Given the description of an element on the screen output the (x, y) to click on. 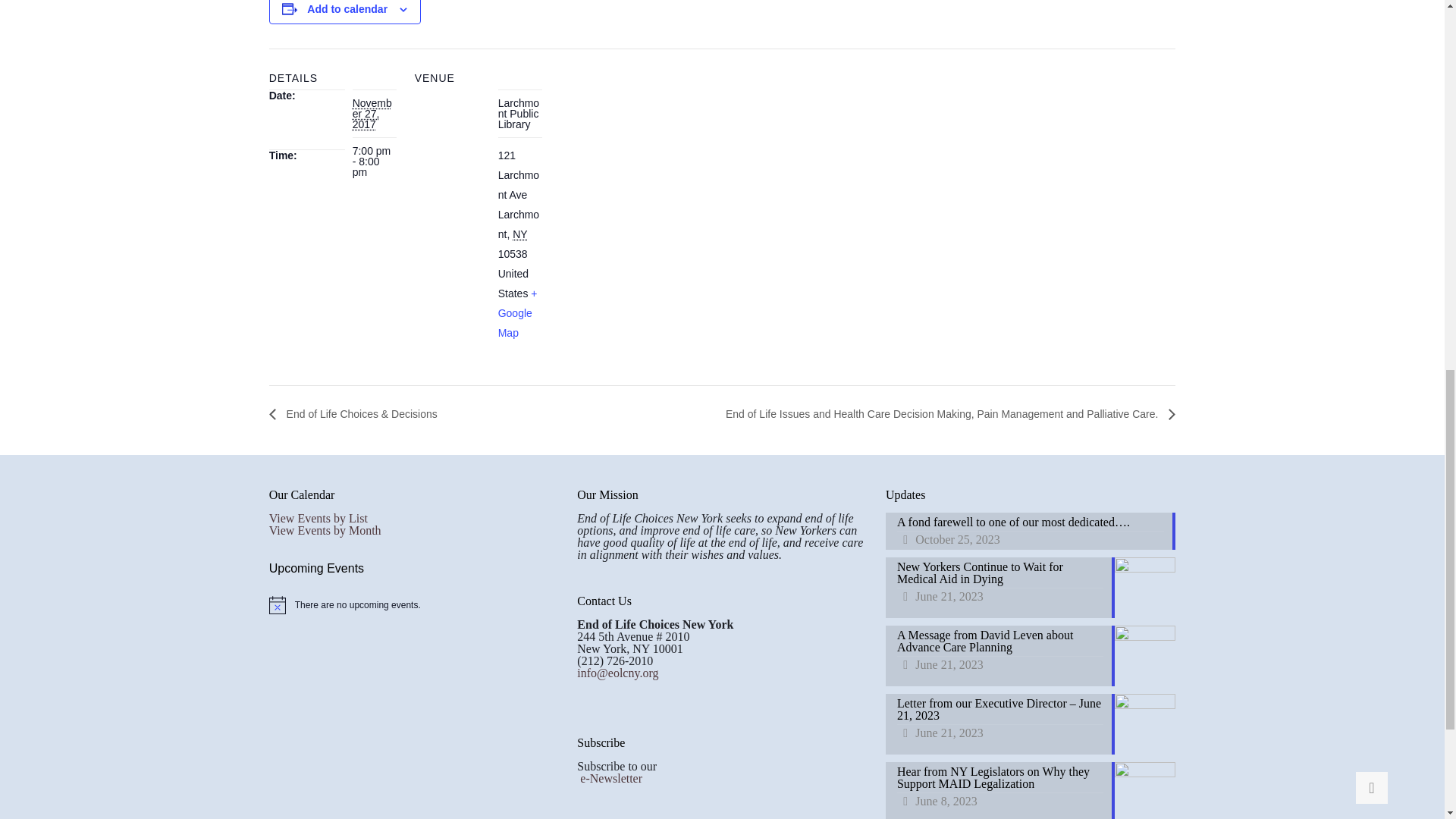
2017-11-27 (374, 161)
2017-11-27 (371, 113)
New York (519, 234)
